Given the description of an element on the screen output the (x, y) to click on. 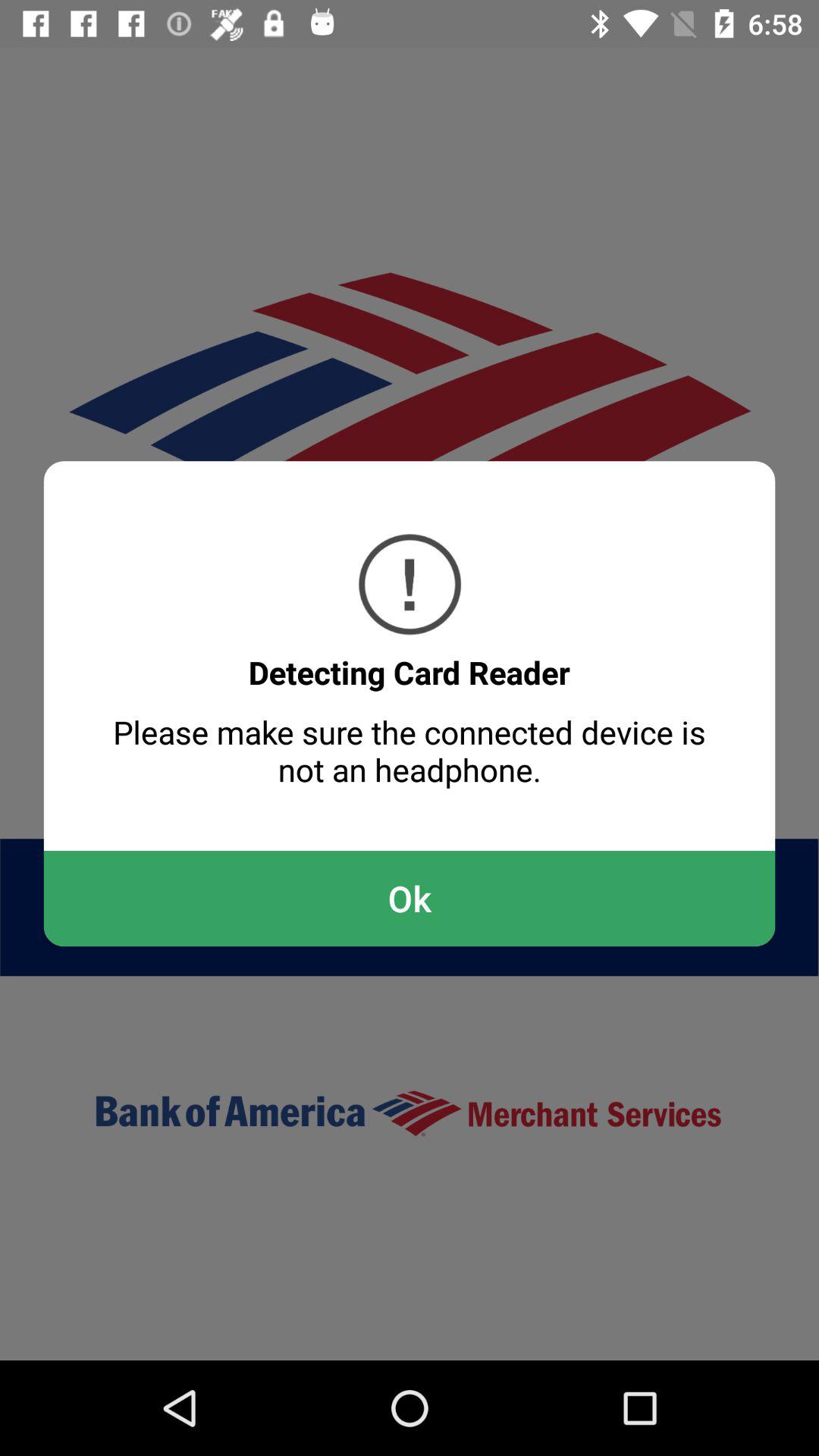
flip until the ok icon (409, 898)
